Given the description of an element on the screen output the (x, y) to click on. 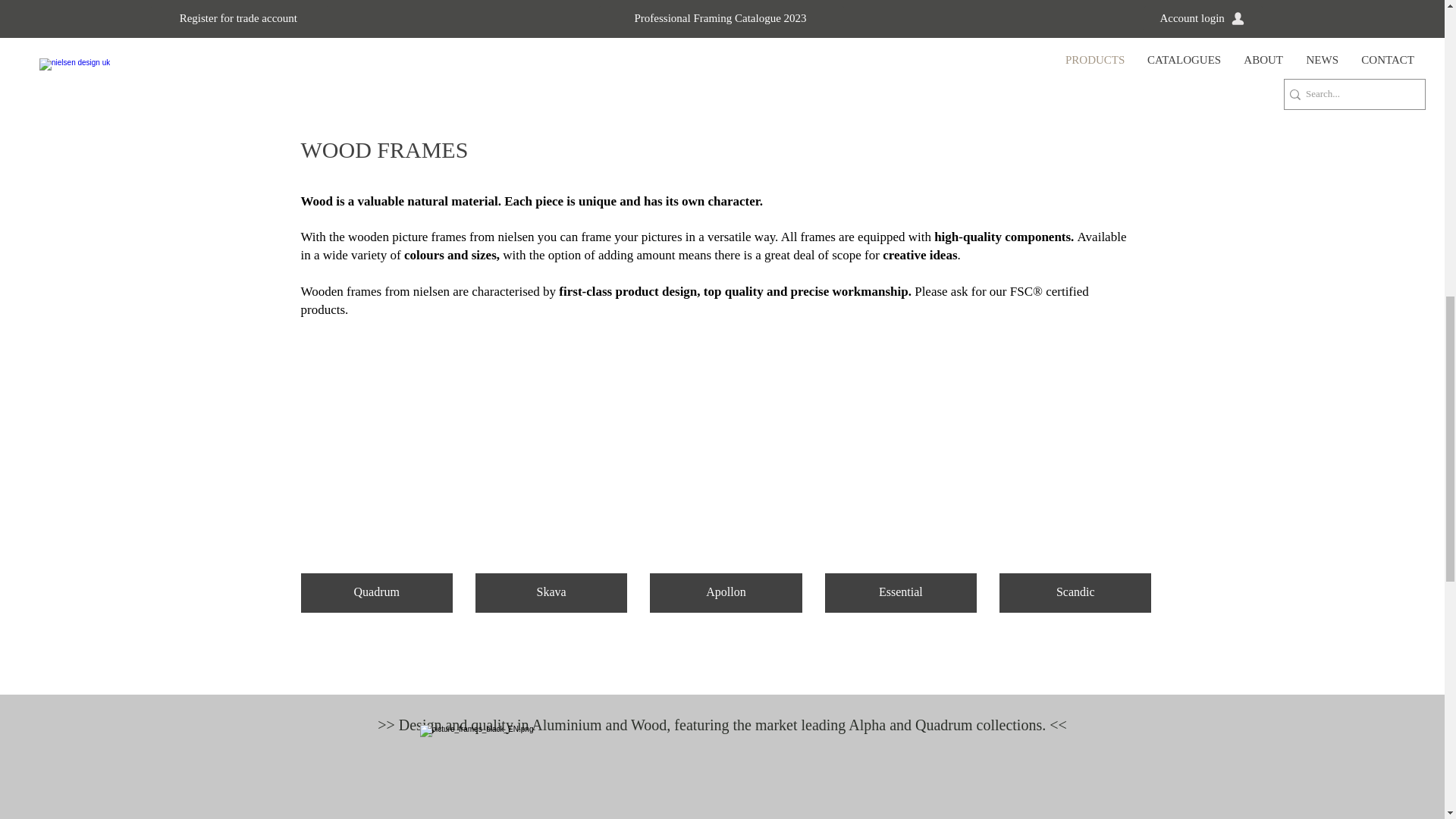
Accent (898, 19)
C2 (546, 19)
Classic (722, 19)
Gallery Junior (1074, 19)
Alpha (370, 19)
